Given the description of an element on the screen output the (x, y) to click on. 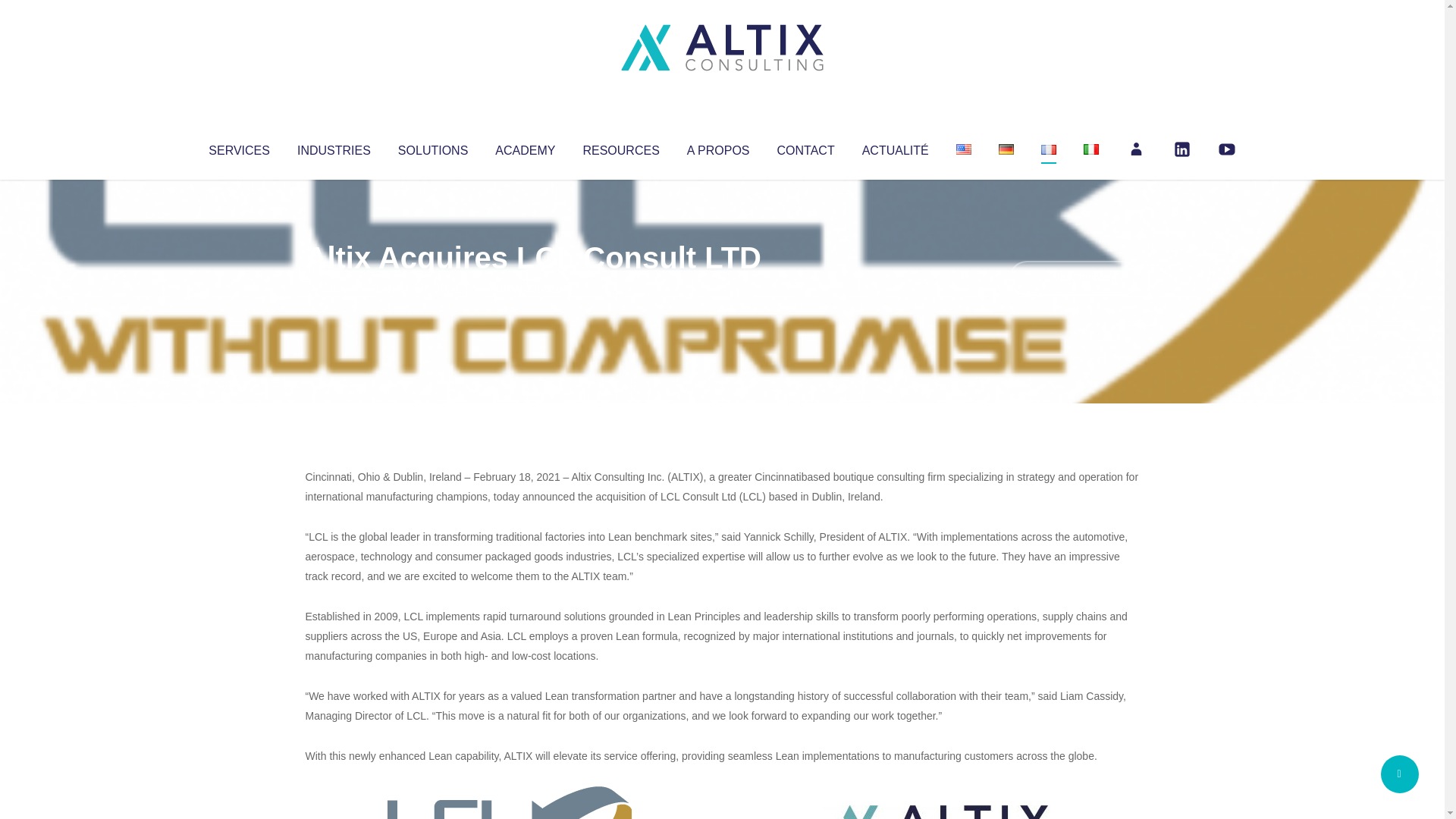
Uncategorized (530, 287)
RESOURCES (620, 146)
Articles par Altix (333, 287)
ACADEMY (524, 146)
INDUSTRIES (334, 146)
SOLUTIONS (432, 146)
No Comments (1073, 278)
A PROPOS (718, 146)
SERVICES (238, 146)
Altix (333, 287)
